Given the description of an element on the screen output the (x, y) to click on. 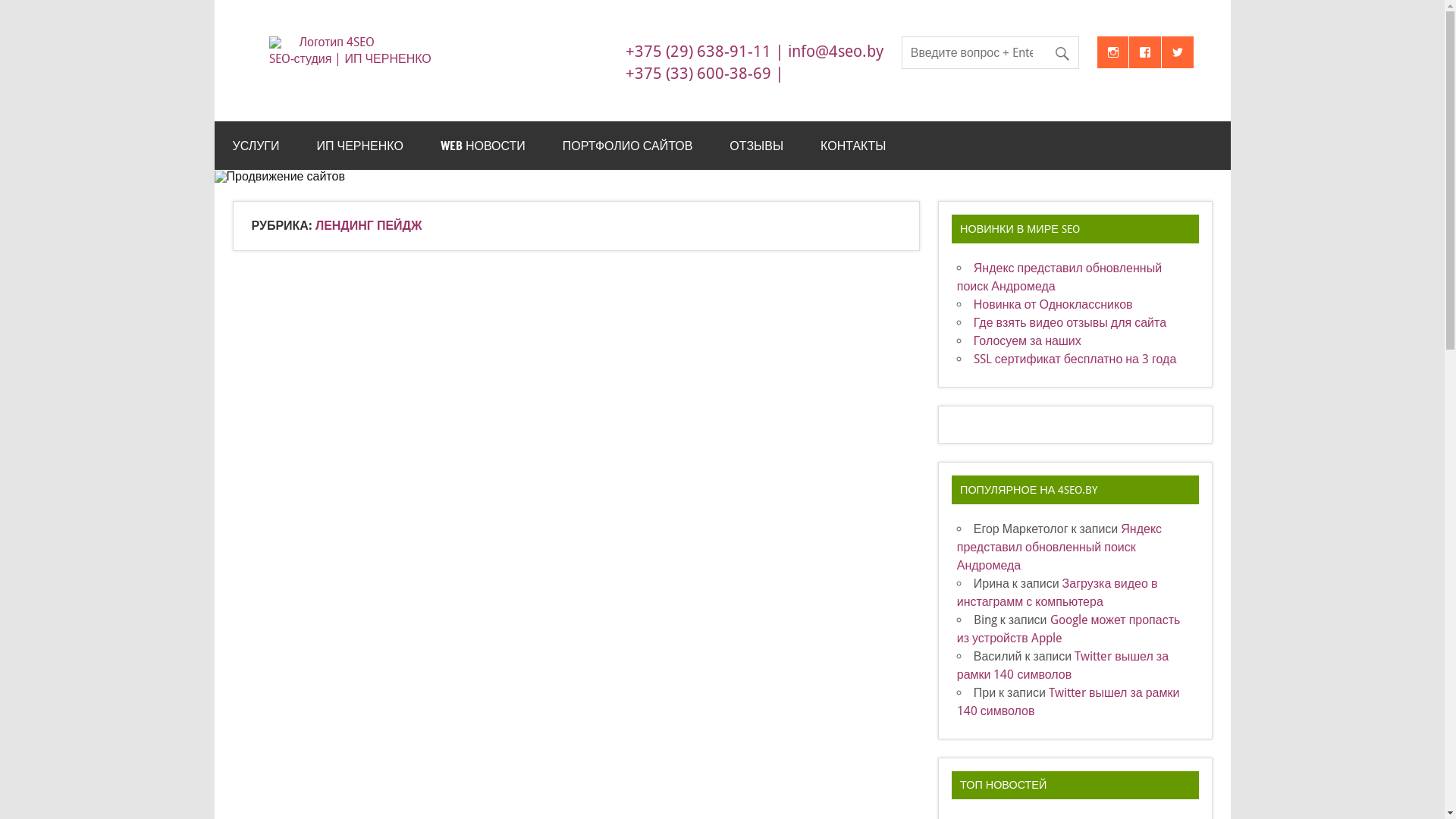
info@4seo.by Element type: text (835, 51)
+375 (29) 638-91-11 | Element type: text (704, 51)
+375 (33) 600-38-69 | Element type: text (704, 73)
